Given the description of an element on the screen output the (x, y) to click on. 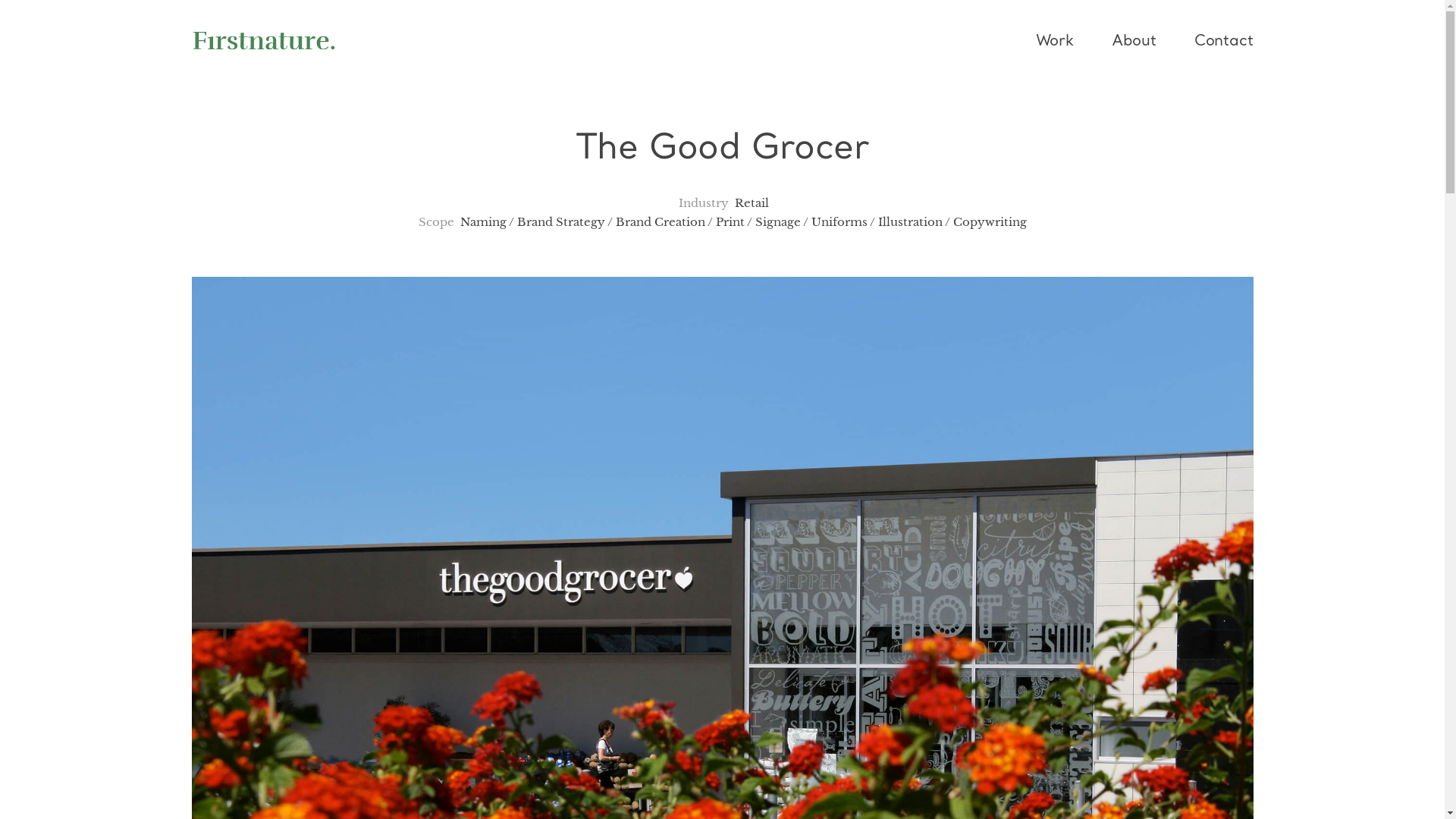
Work Element type: text (1063, 41)
FirstNature Design Element type: hover (263, 41)
Contact Element type: text (1214, 41)
About Element type: text (1133, 41)
